Given the description of an element on the screen output the (x, y) to click on. 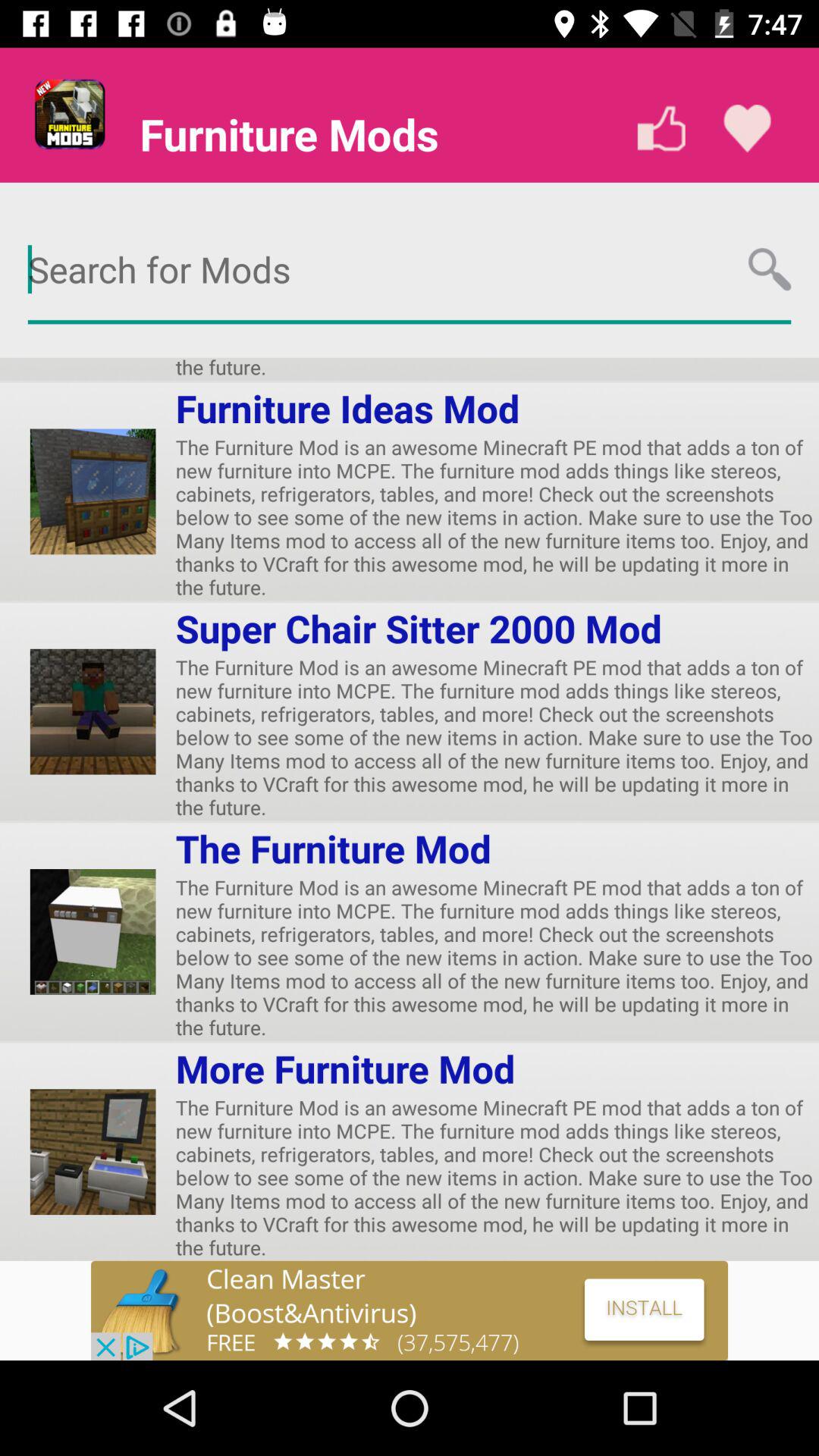
favorites (747, 128)
